Given the description of an element on the screen output the (x, y) to click on. 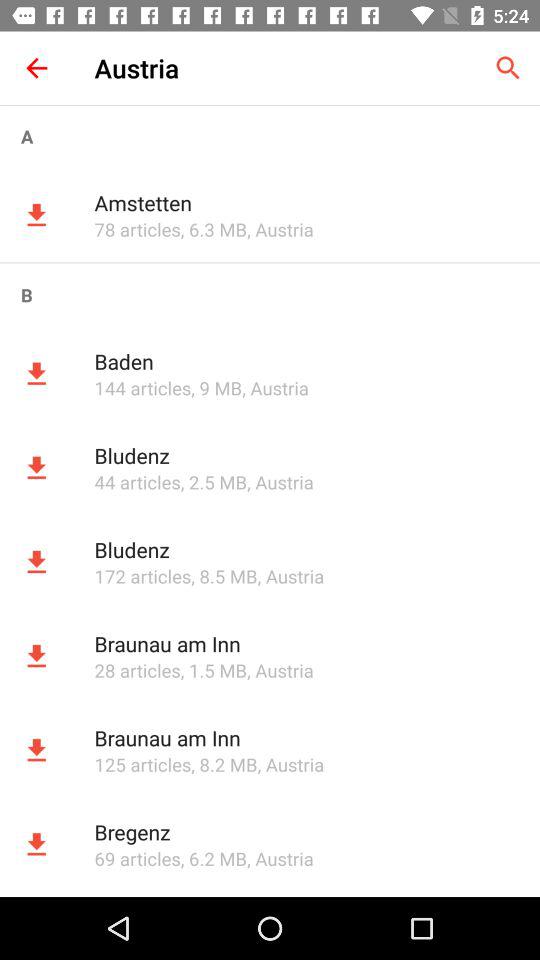
turn off a item (270, 136)
